Given the description of an element on the screen output the (x, y) to click on. 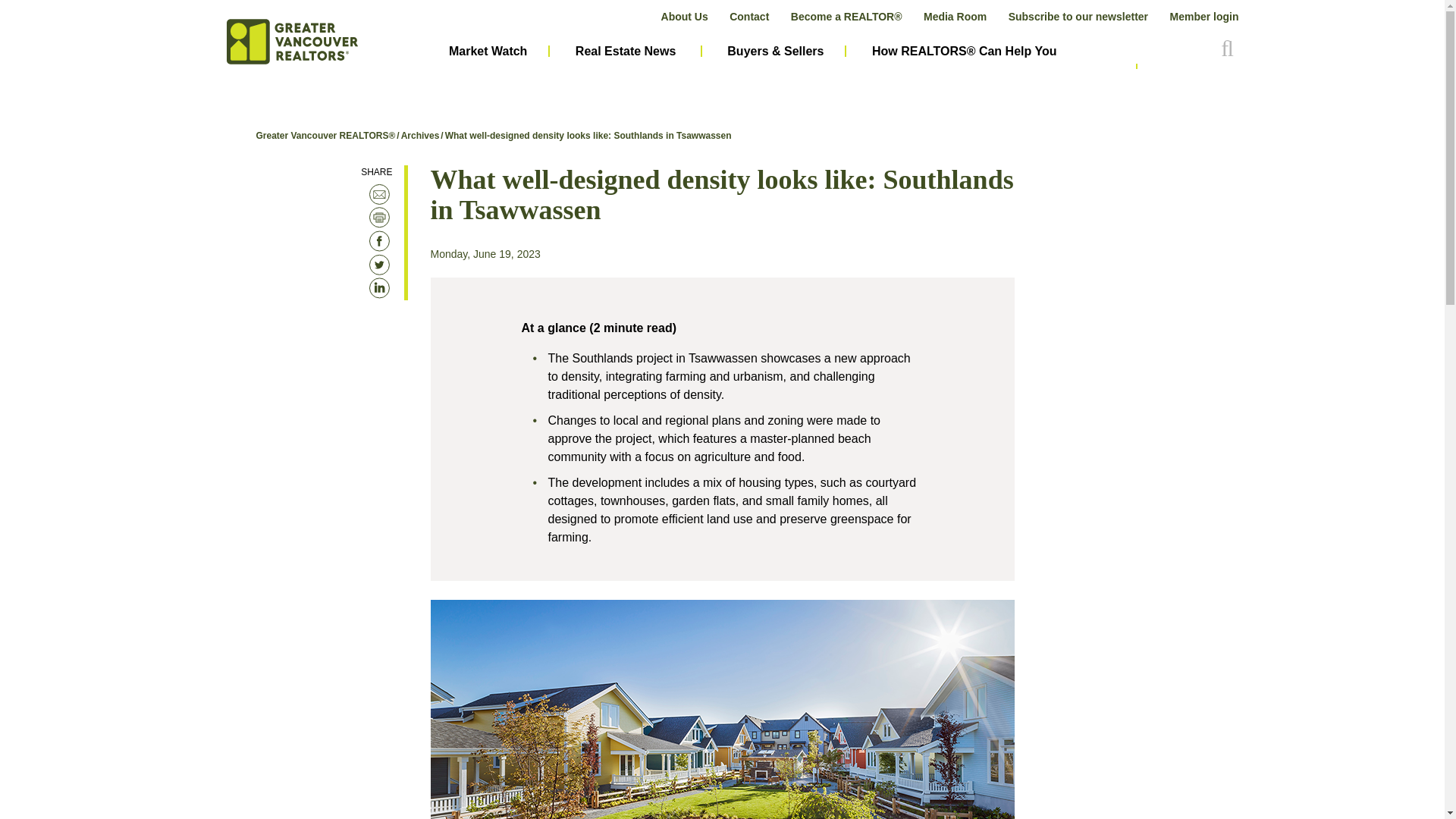
Real Estate News (626, 51)
Market Watch (487, 51)
Home (291, 41)
